Given the description of an element on the screen output the (x, y) to click on. 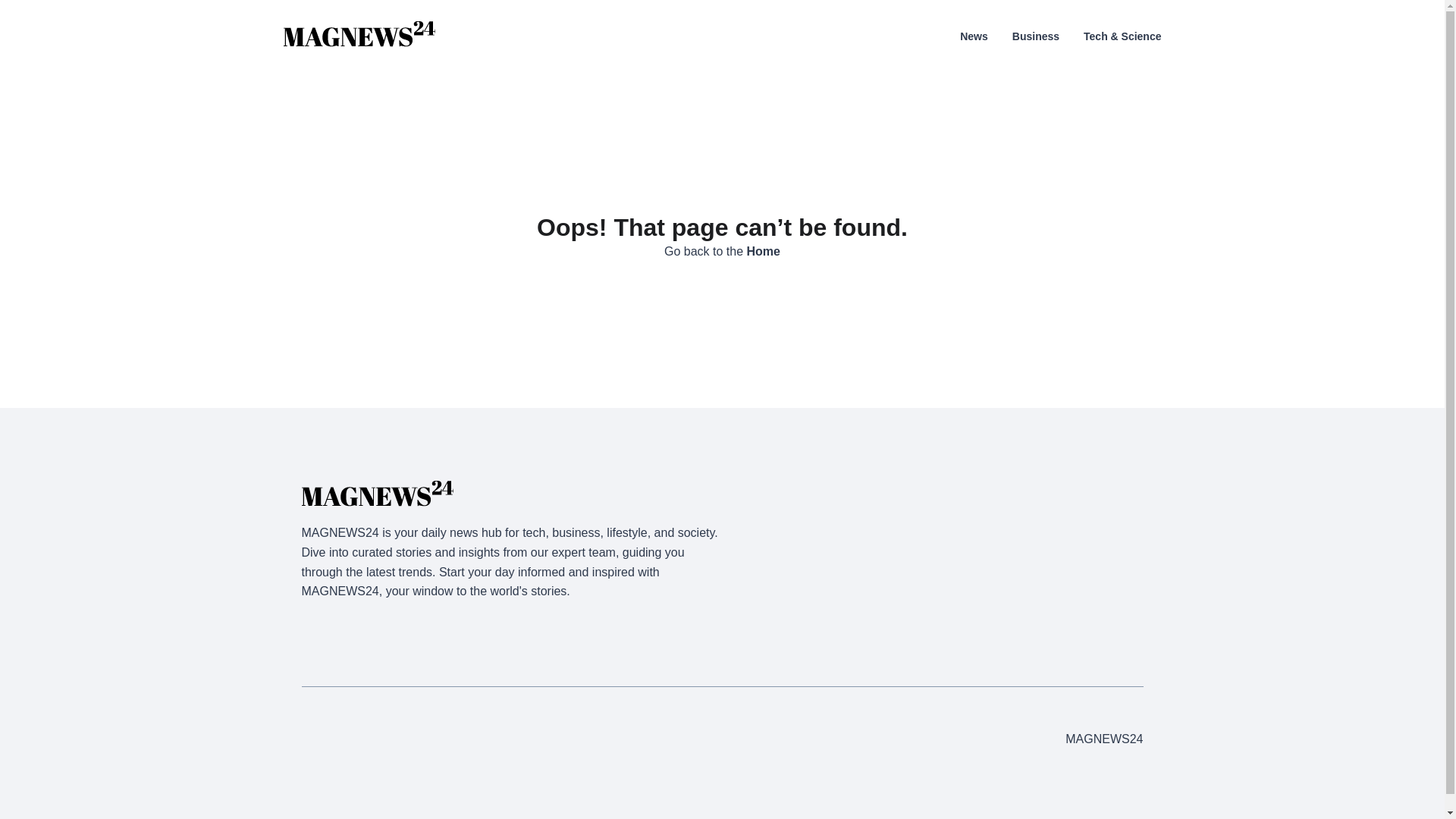
Home (763, 250)
Business (1035, 36)
News (973, 36)
